Given the description of an element on the screen output the (x, y) to click on. 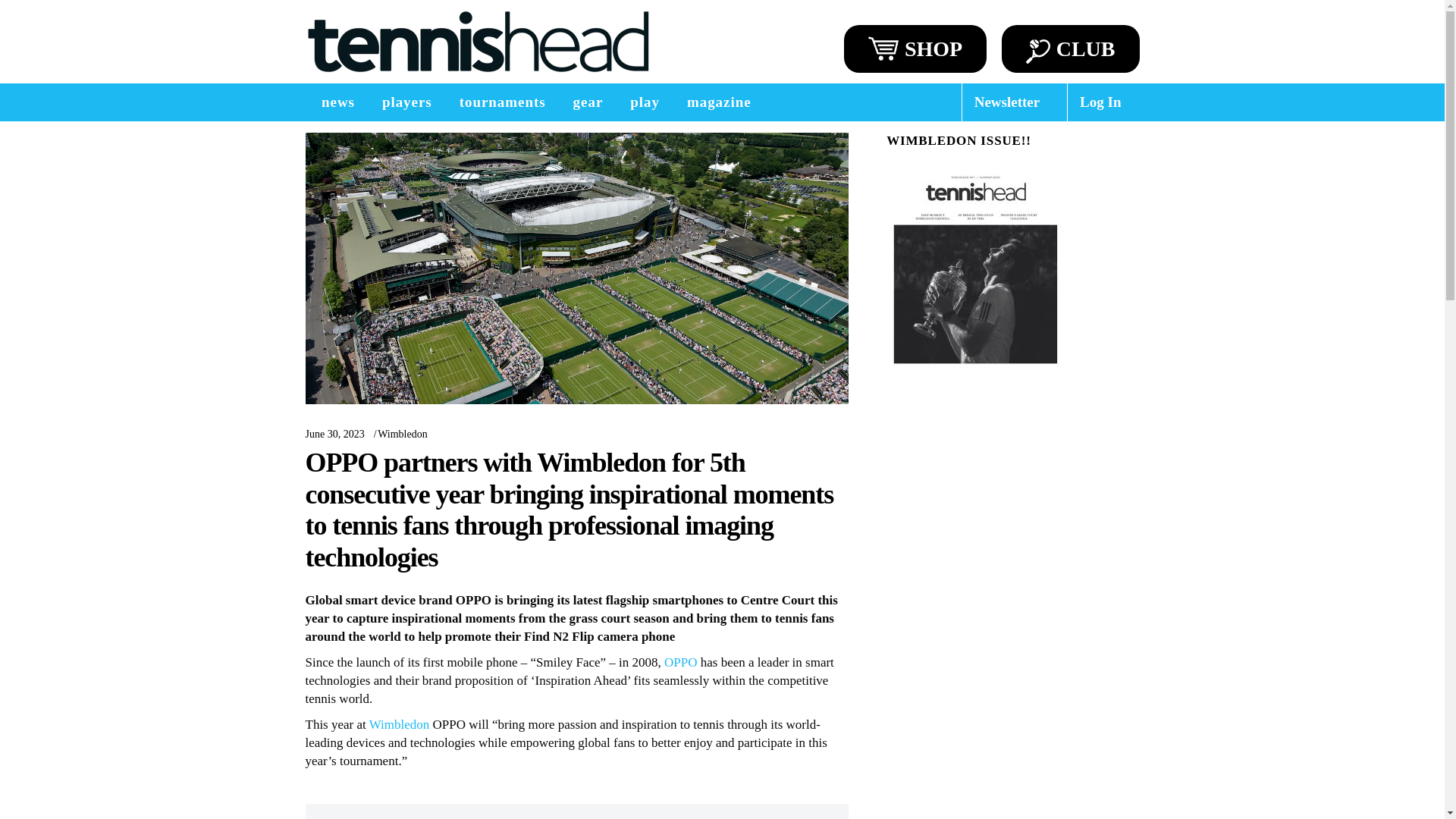
play (643, 102)
CLUB (1070, 48)
news (337, 102)
gear (588, 102)
players (406, 102)
SHOP (915, 48)
tournaments (502, 102)
